Given the description of an element on the screen output the (x, y) to click on. 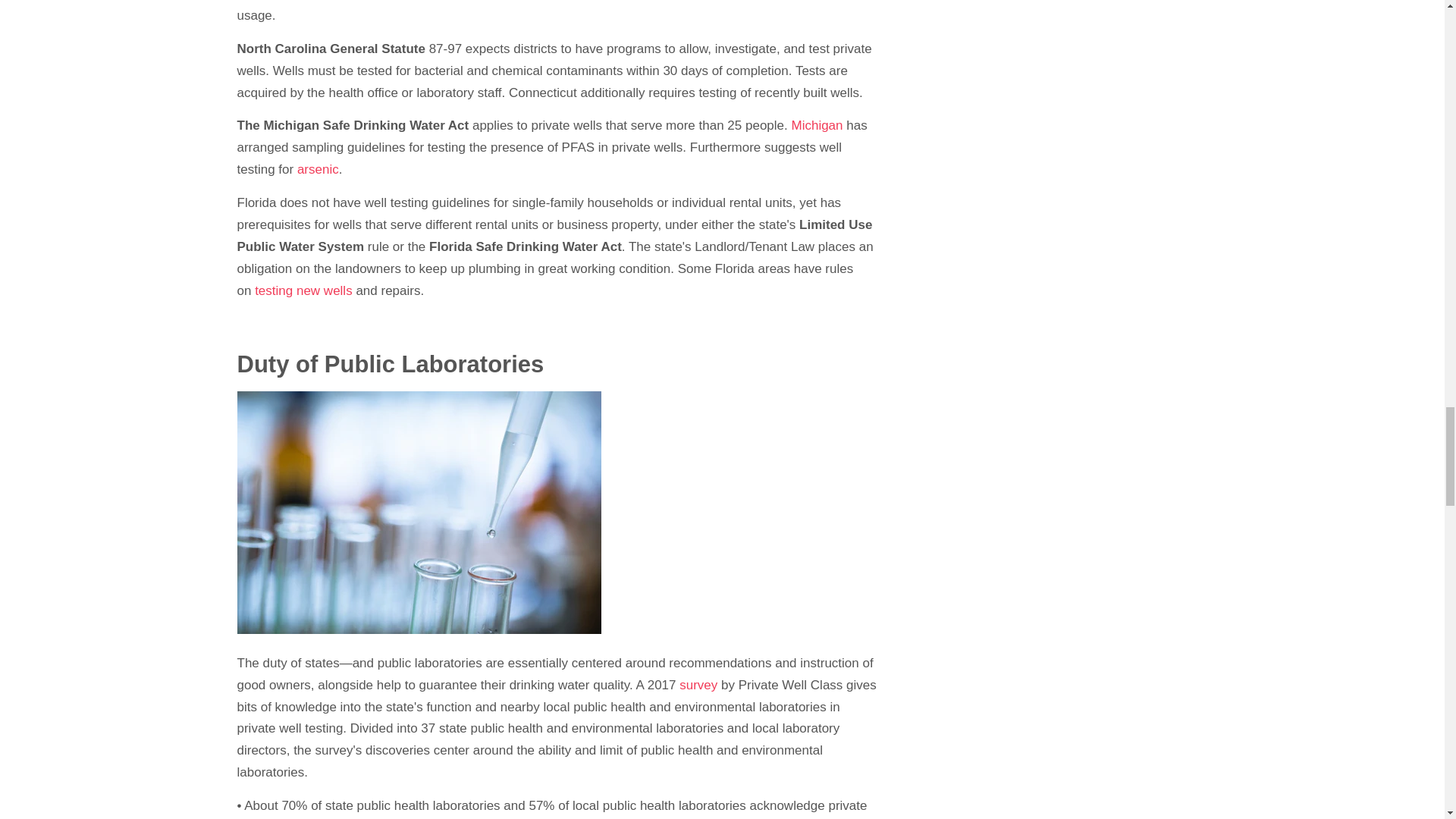
Michigan (816, 124)
testing new wells (303, 290)
arsenic (318, 169)
survey  (699, 685)
